Given the description of an element on the screen output the (x, y) to click on. 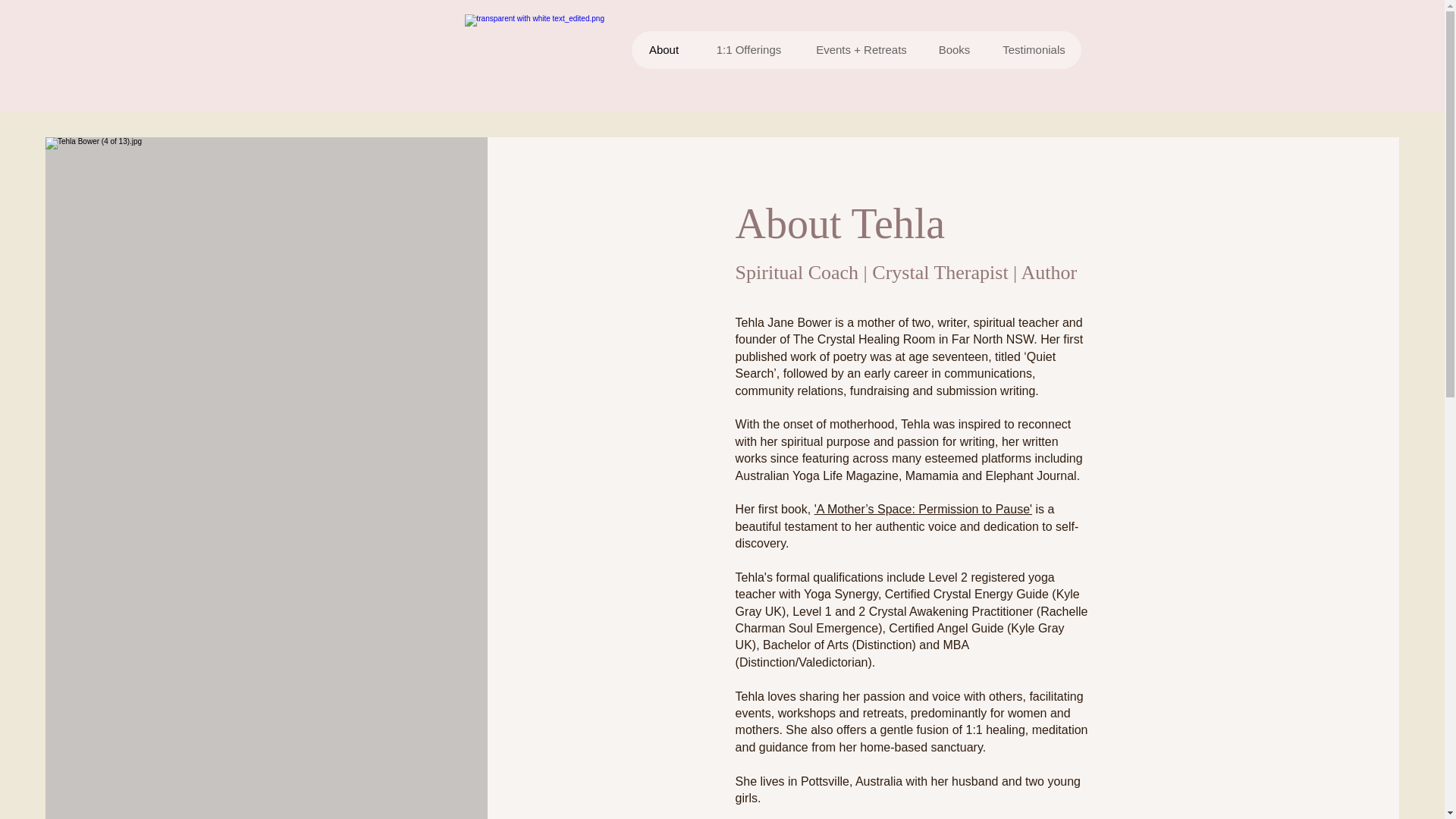
Testimonials (1032, 49)
About (662, 49)
Books (954, 49)
1:1 Offerings (747, 49)
